Given the description of an element on the screen output the (x, y) to click on. 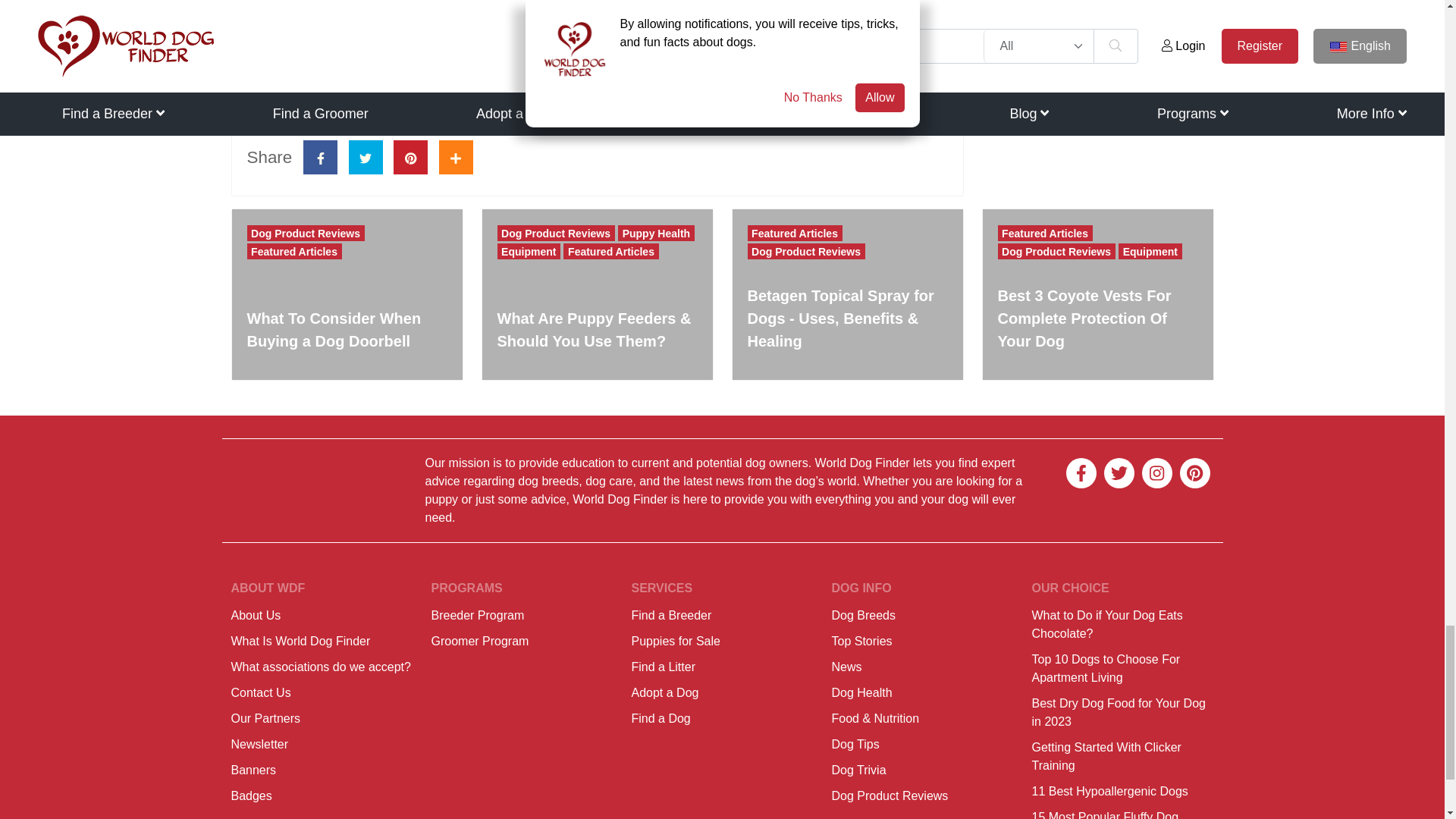
Share on Facebook (319, 157)
Share on pinterest (410, 157)
Share (456, 157)
Tweet (365, 157)
